Given the description of an element on the screen output the (x, y) to click on. 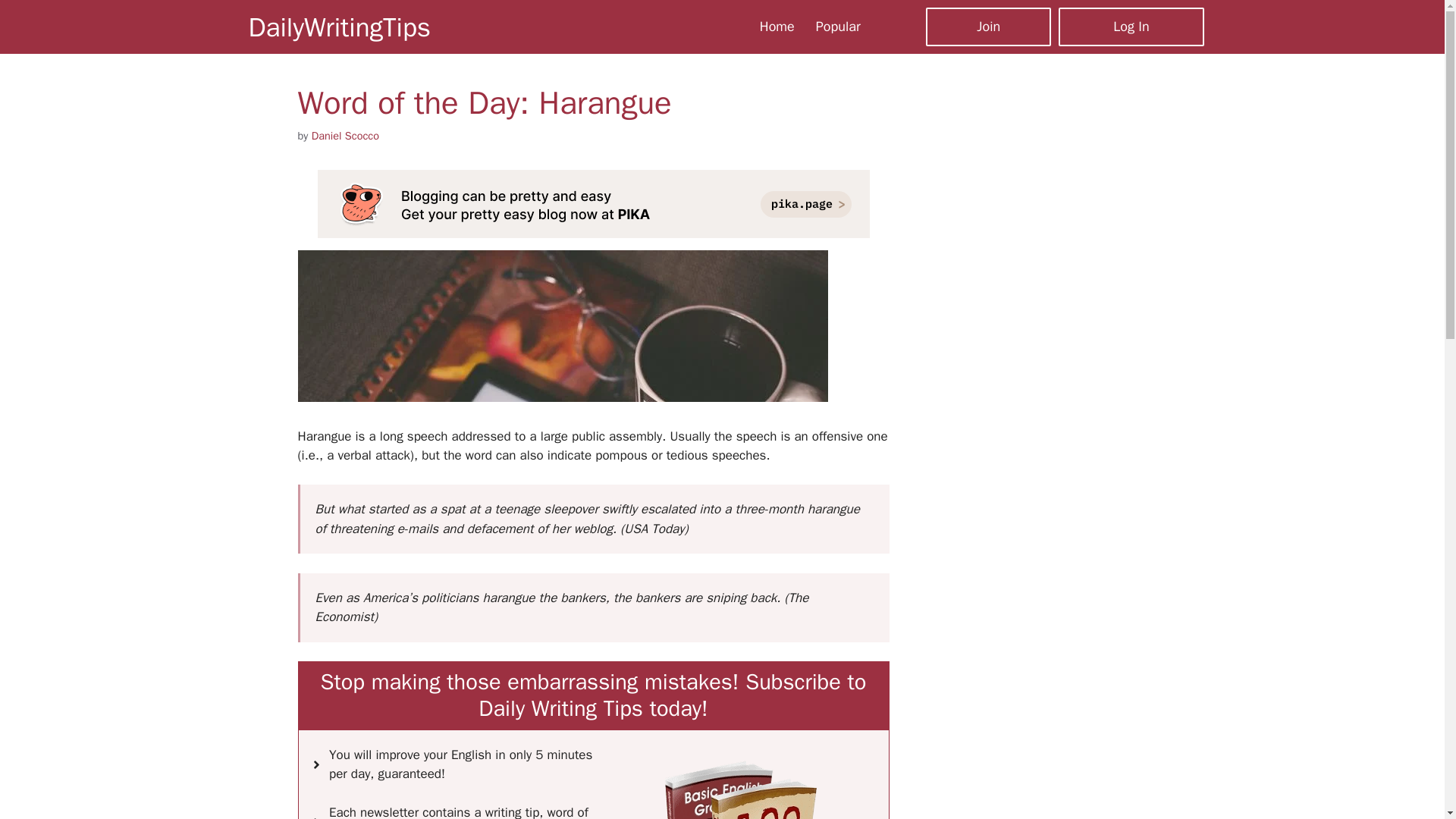
Log In (1131, 26)
Join (988, 26)
Popular (837, 26)
Home (777, 26)
img (740, 789)
View all posts by Daniel Scocco (344, 135)
Daniel Scocco (344, 135)
